Given the description of an element on the screen output the (x, y) to click on. 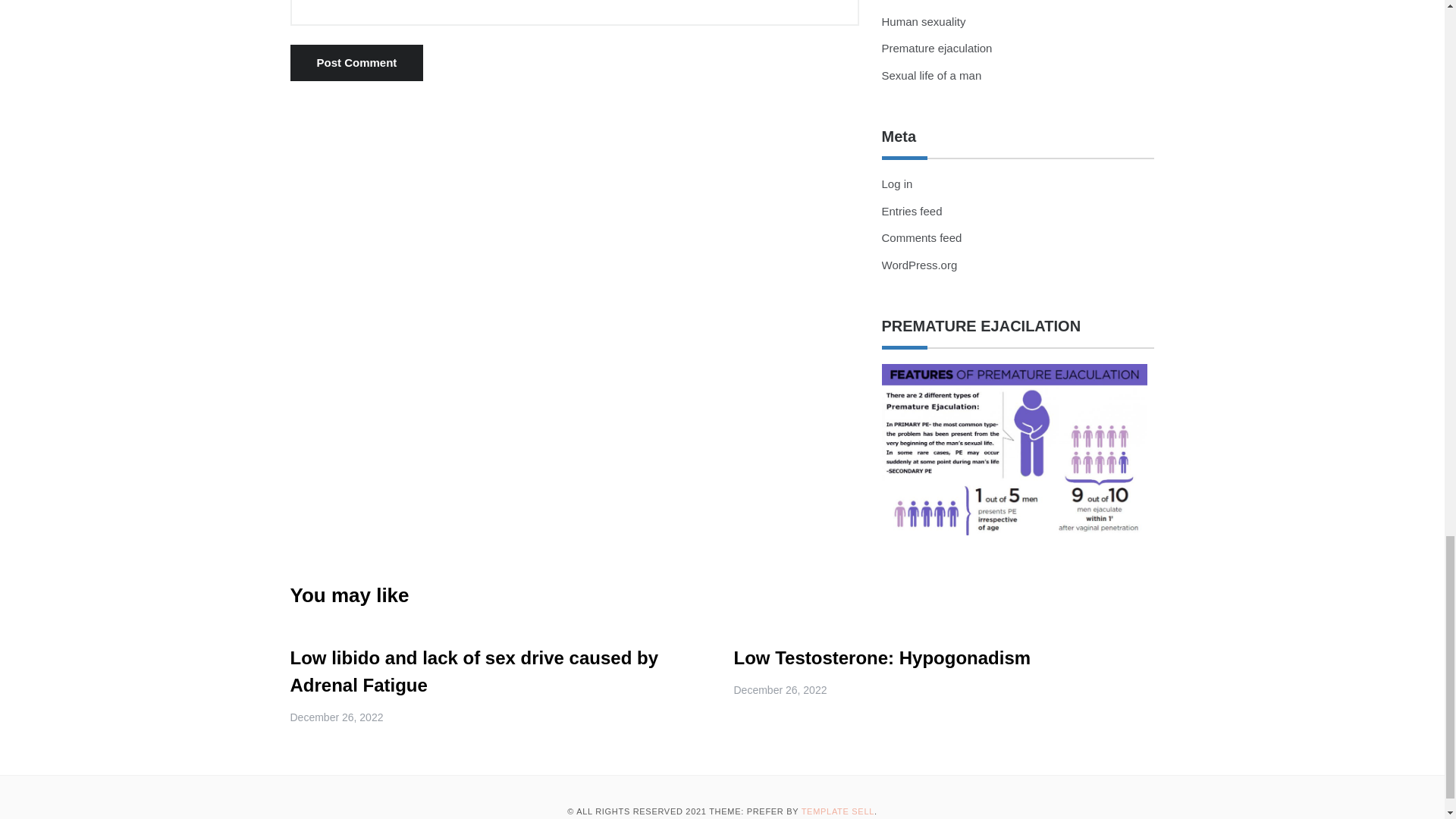
Post Comment (356, 63)
Post Comment (356, 63)
